Given the description of an element on the screen output the (x, y) to click on. 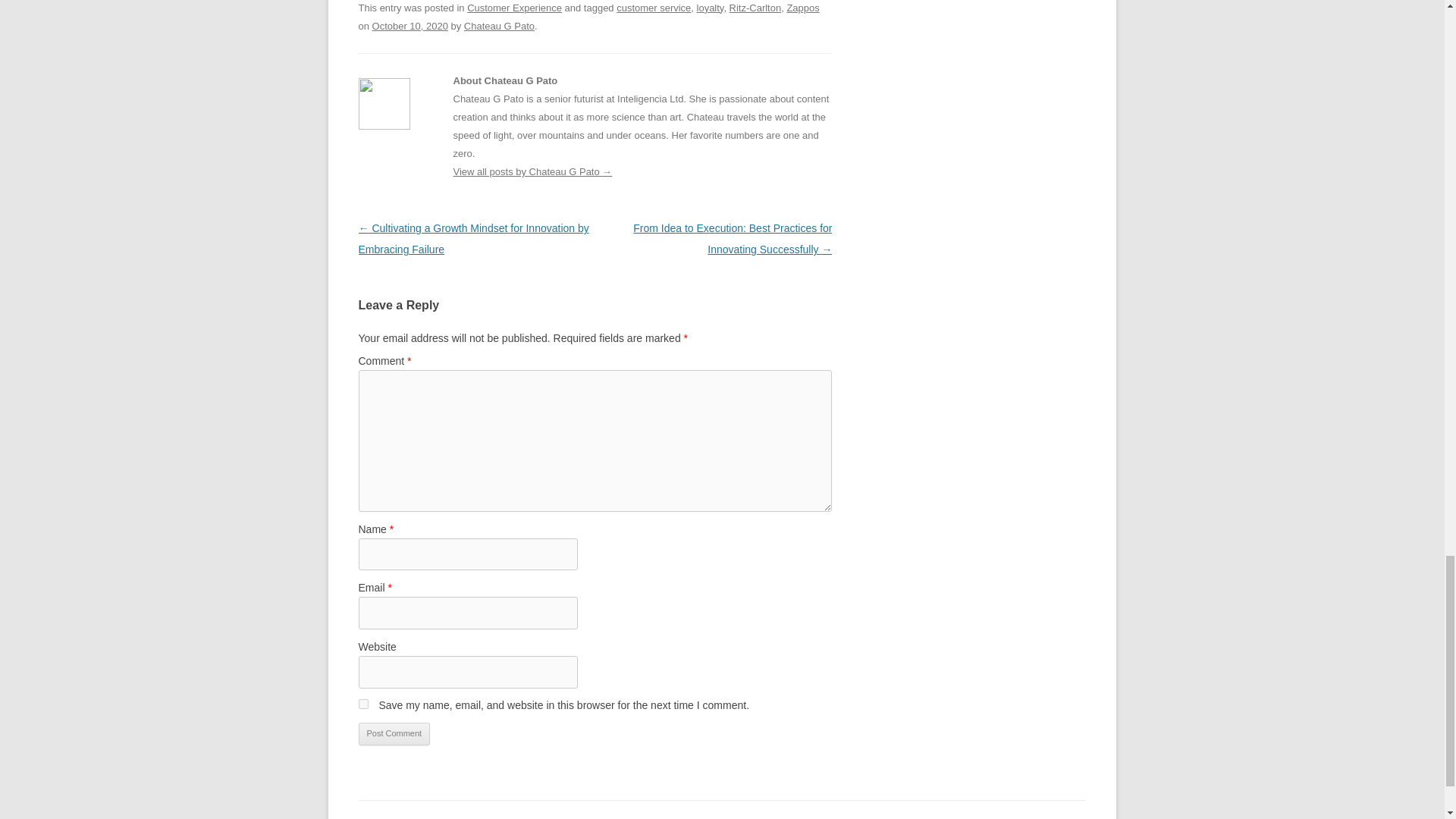
View all posts by Chateau G Pato (499, 25)
1:10 am (410, 25)
Post Comment (393, 733)
yes (363, 704)
